Given the description of an element on the screen output the (x, y) to click on. 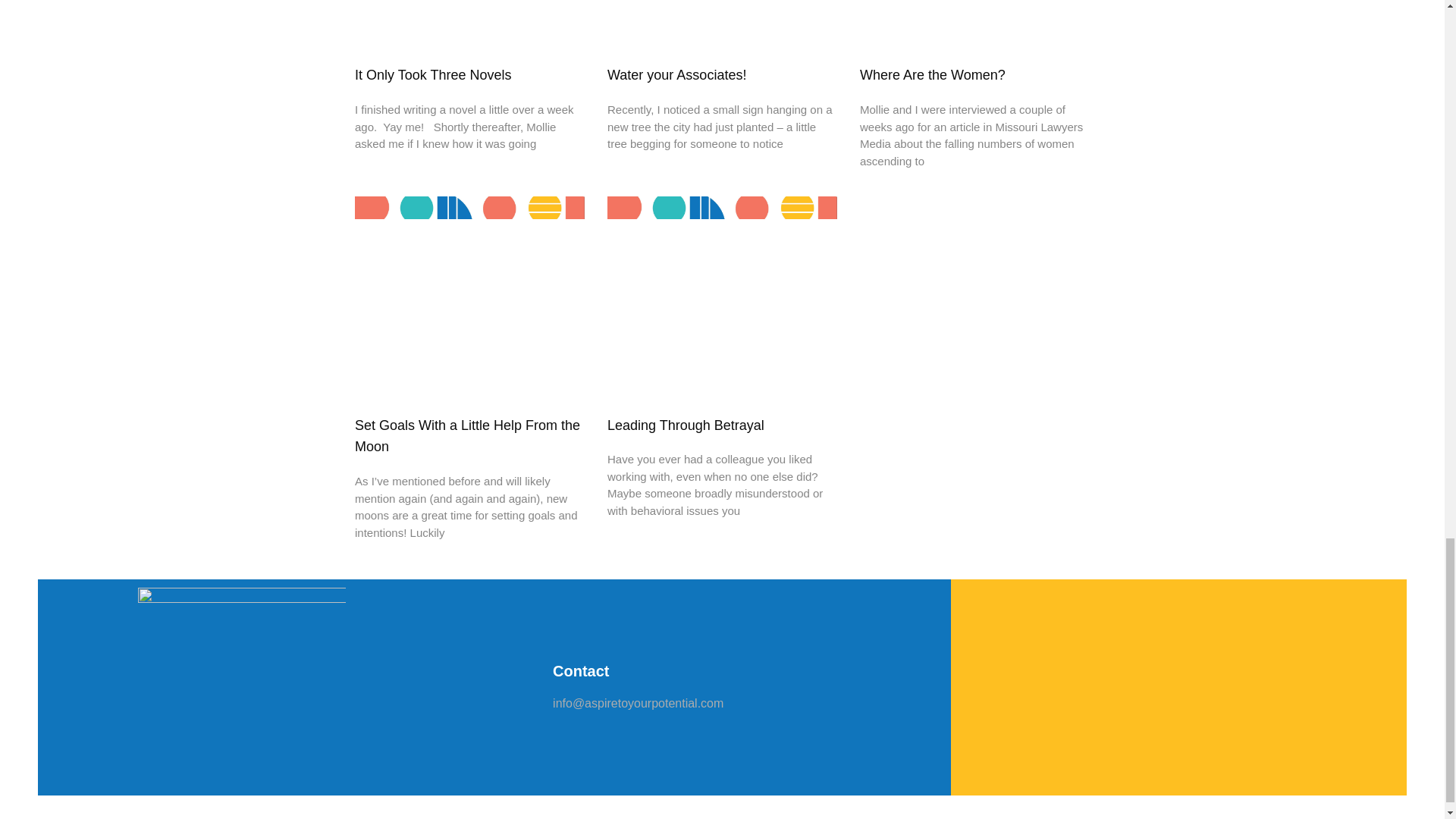
Set Goals With a Little Help From the Moon (467, 436)
Where Are the Women? (933, 74)
It Only Took Three Novels (433, 74)
Water your Associates! (676, 74)
Leading Through Betrayal (685, 425)
